Given the description of an element on the screen output the (x, y) to click on. 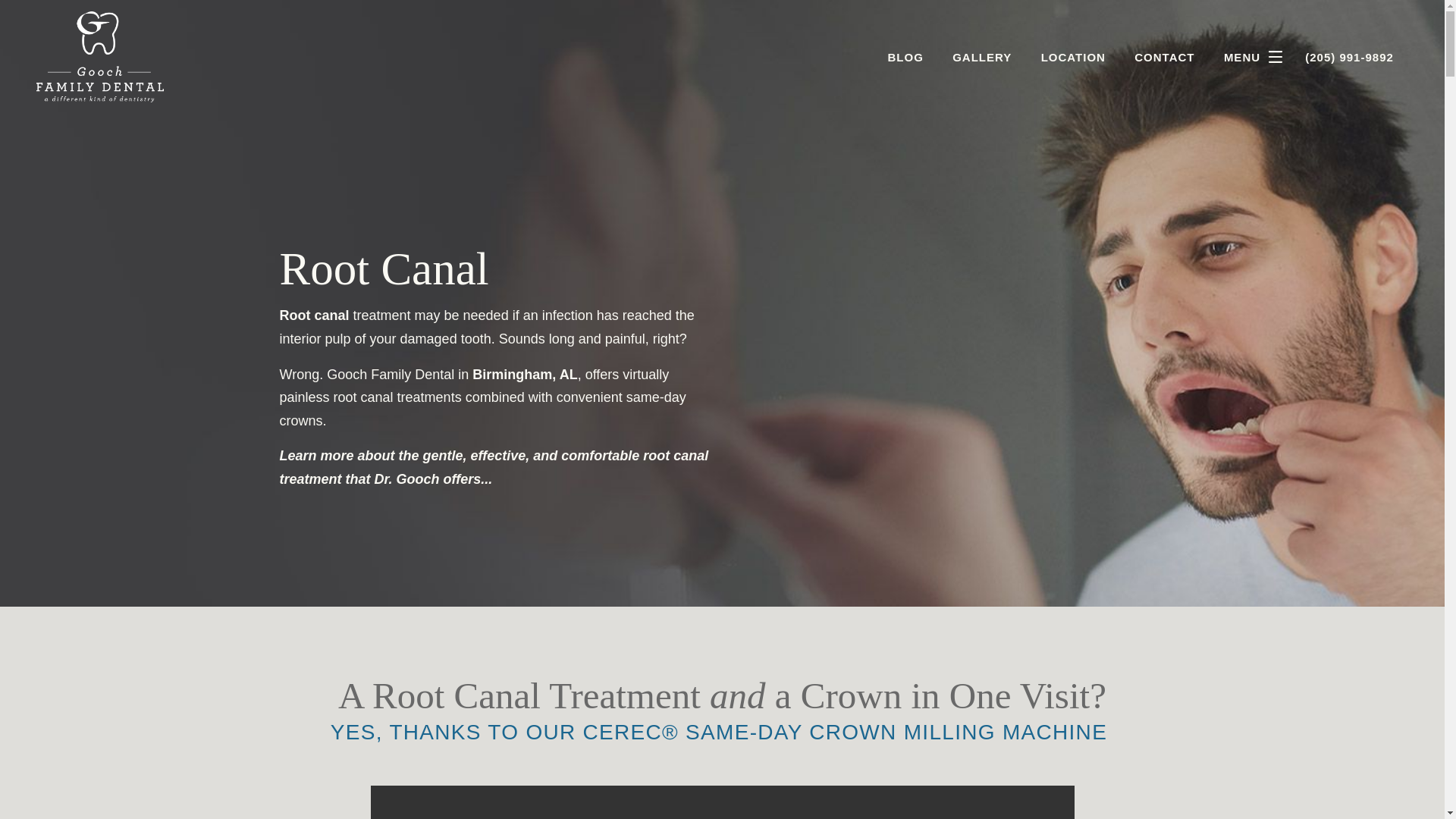
MENU (1257, 56)
LOCATION (1073, 57)
BLOG (904, 57)
GALLERY (981, 57)
CONTACT (1163, 57)
